Given the description of an element on the screen output the (x, y) to click on. 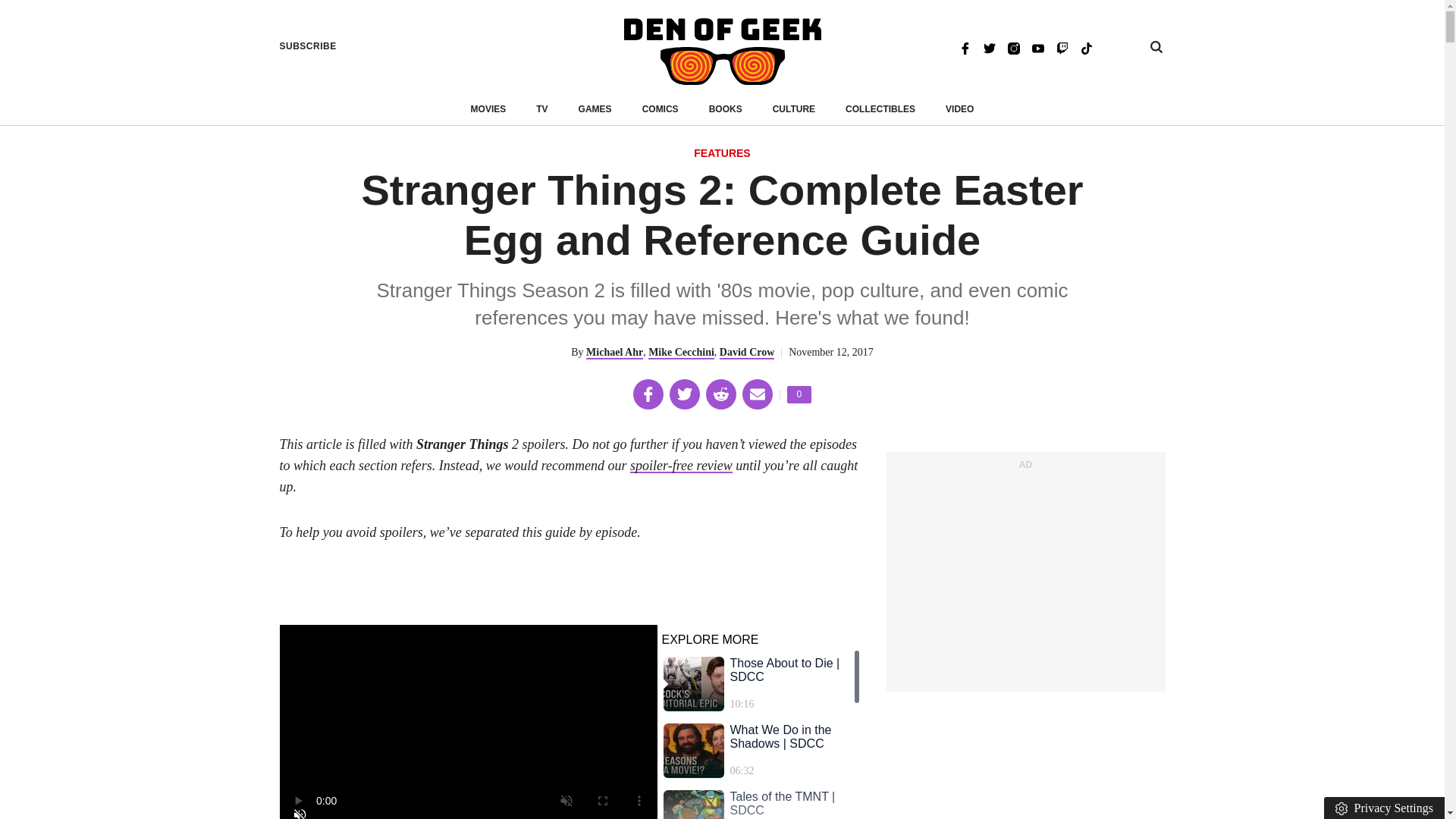
Twitter (988, 46)
COLLECTIBLES (880, 109)
Twitch (1061, 46)
CULTURE (794, 109)
Instagram (1013, 46)
VIDEO (959, 109)
David Crow (746, 352)
Michael Ahr (614, 352)
GAMES (594, 109)
Mike Cecchini (680, 352)
BOOKS (725, 109)
MOVIES (798, 394)
COMICS (488, 109)
Den of Geek (660, 109)
